Given the description of an element on the screen output the (x, y) to click on. 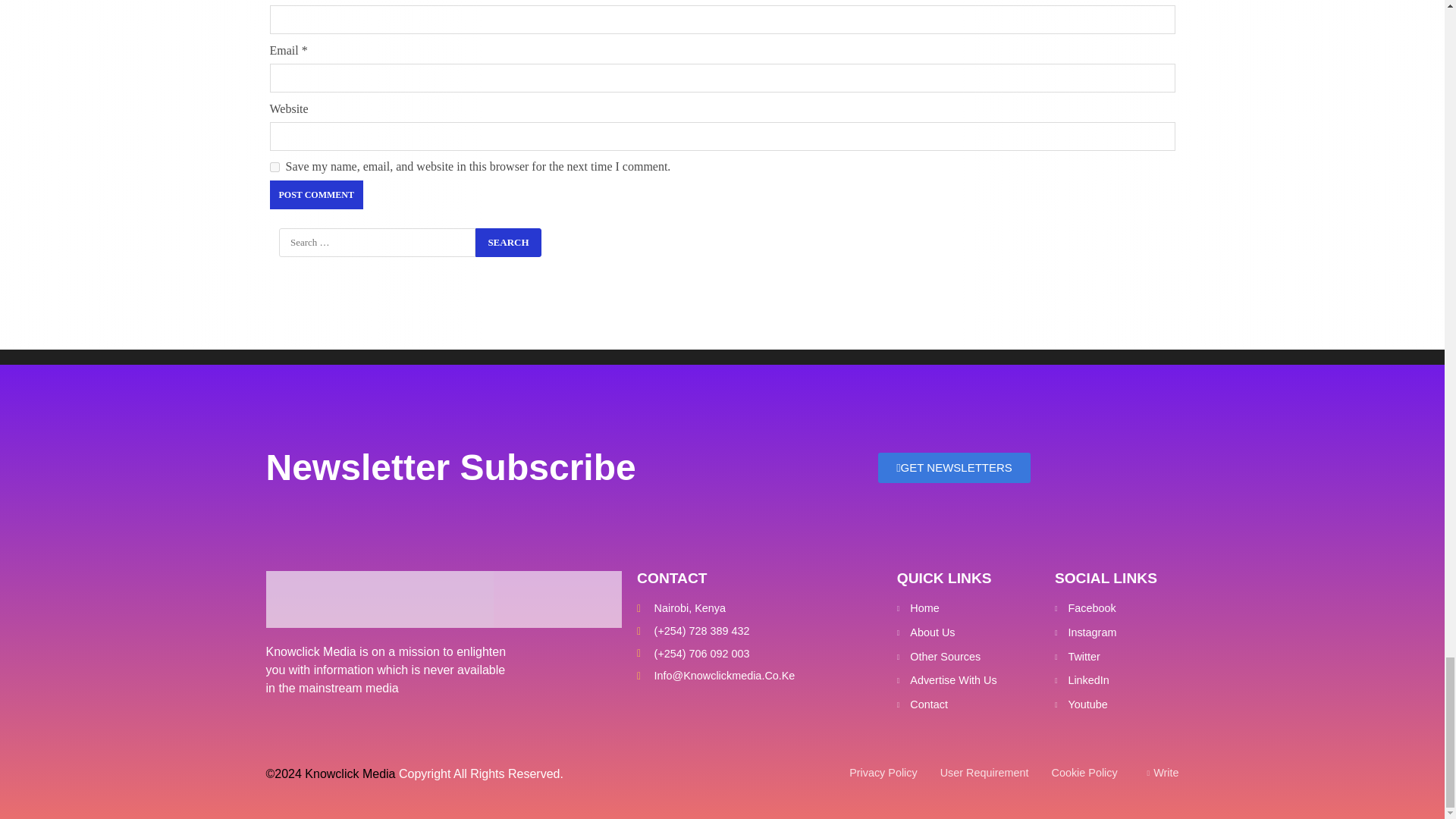
Search (508, 242)
yes (274, 166)
Facebook (1115, 608)
Post Comment (315, 194)
Other Sources (967, 657)
Contact (967, 704)
Home (967, 608)
About Us (967, 632)
Advertise With Us (967, 680)
Search (508, 242)
